Given the description of an element on the screen output the (x, y) to click on. 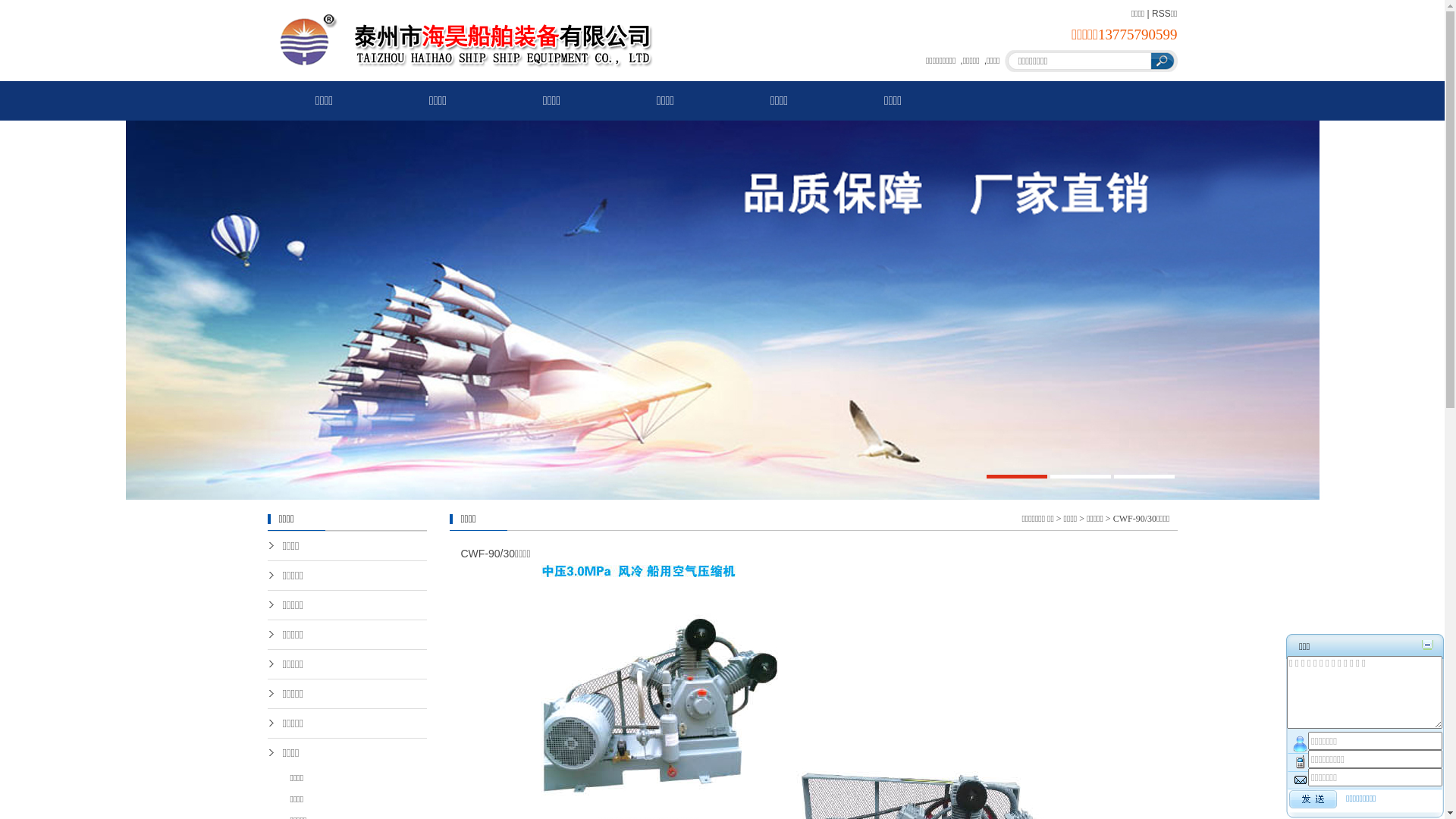
3 Element type: text (1143, 476)
2 Element type: text (1079, 476)
1 Element type: text (1015, 476)
